Given the description of an element on the screen output the (x, y) to click on. 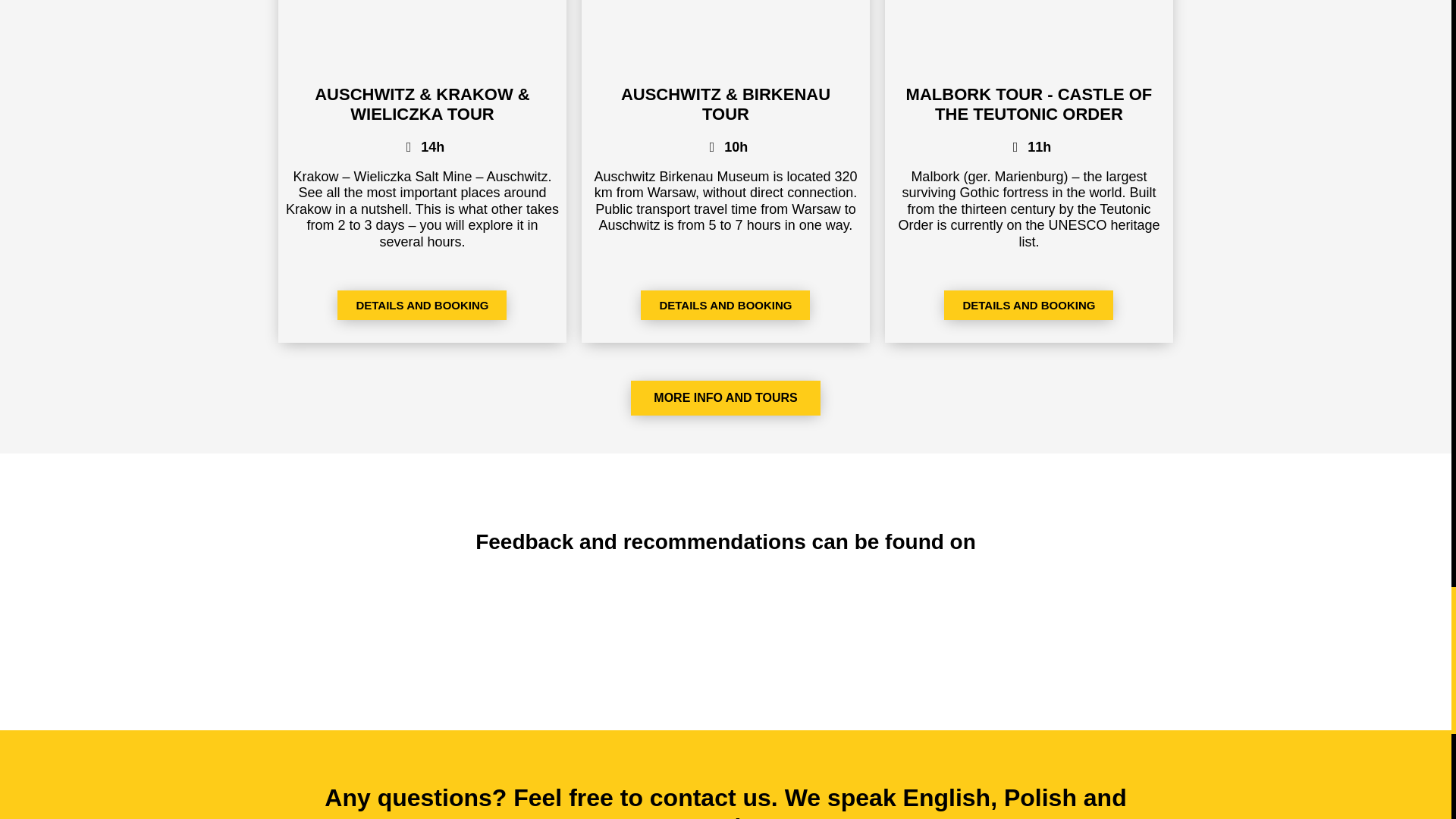
DETAILS AND BOOKING (1028, 305)
DETAILS AND BOOKING (724, 305)
MORE INFO AND TOURS (724, 397)
DETAILS AND BOOKING (421, 305)
